Given the description of an element on the screen output the (x, y) to click on. 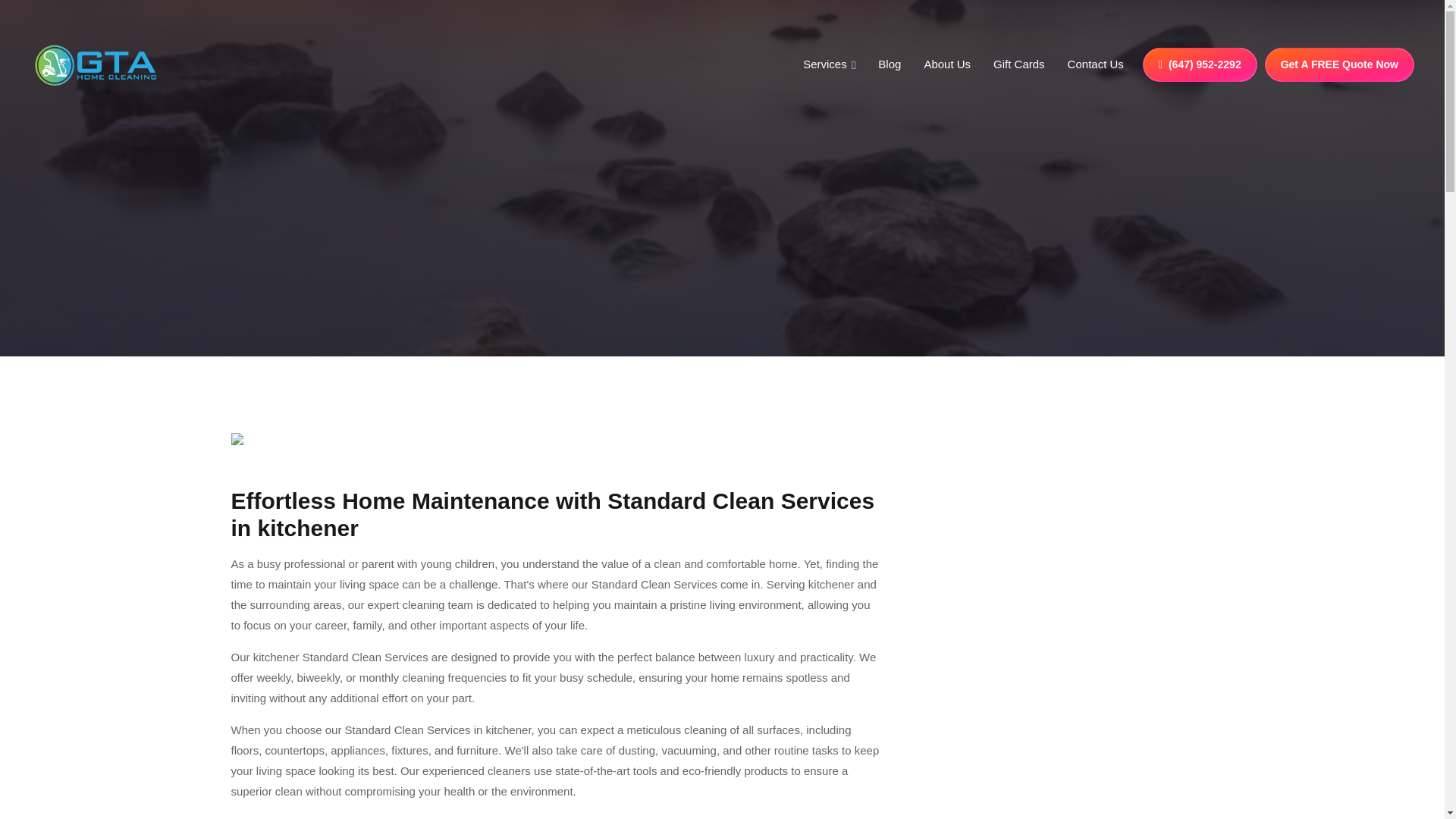
Gift Cards (1018, 64)
Services (829, 64)
Contact Us (1095, 64)
About Us (947, 64)
Blog (889, 64)
Get A FREE Quote Now (1339, 63)
